Given the description of an element on the screen output the (x, y) to click on. 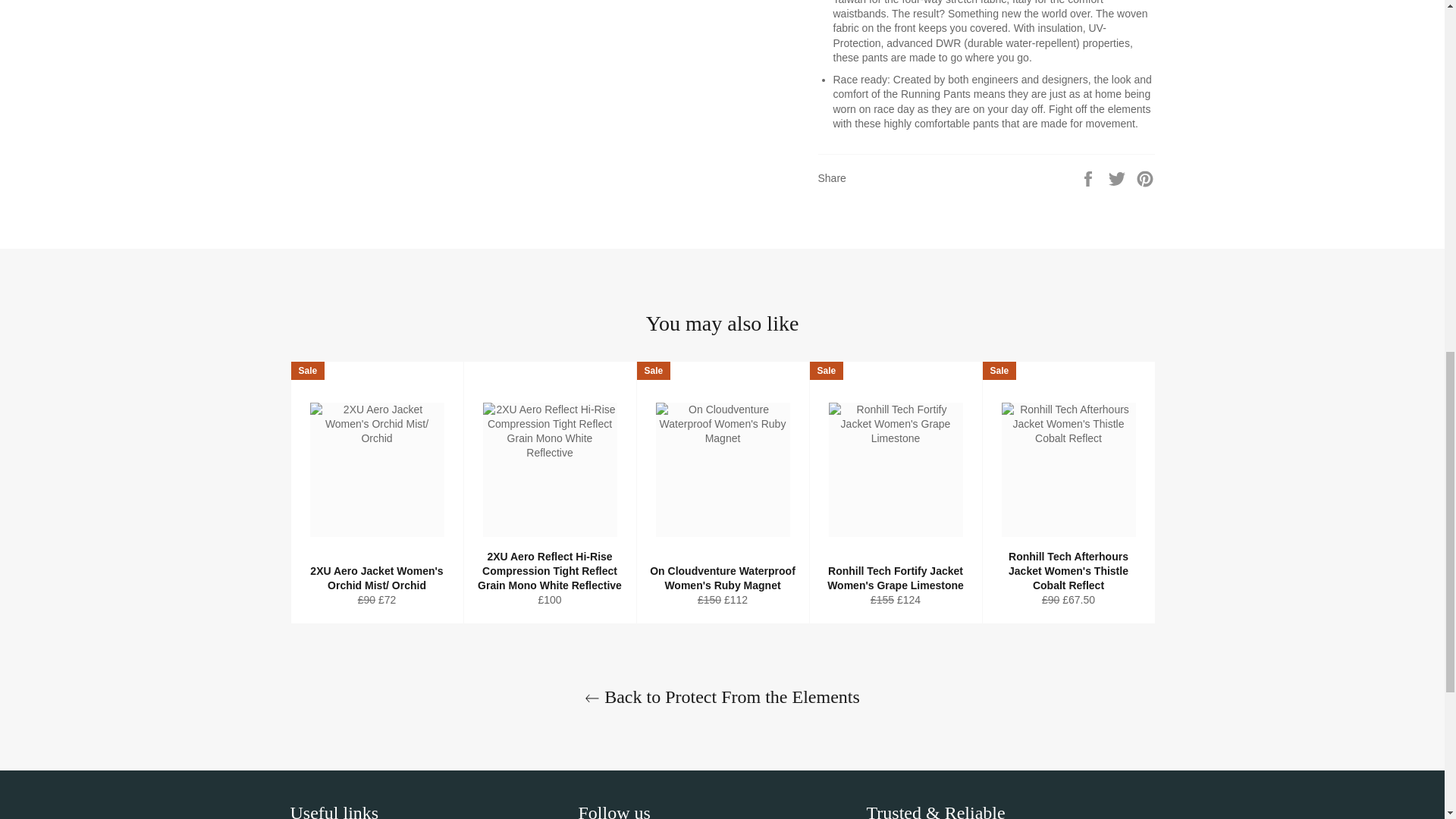
Tweet on Twitter (1118, 177)
Pin on Pinterest (1144, 177)
Share on Facebook (1089, 177)
